Given the description of an element on the screen output the (x, y) to click on. 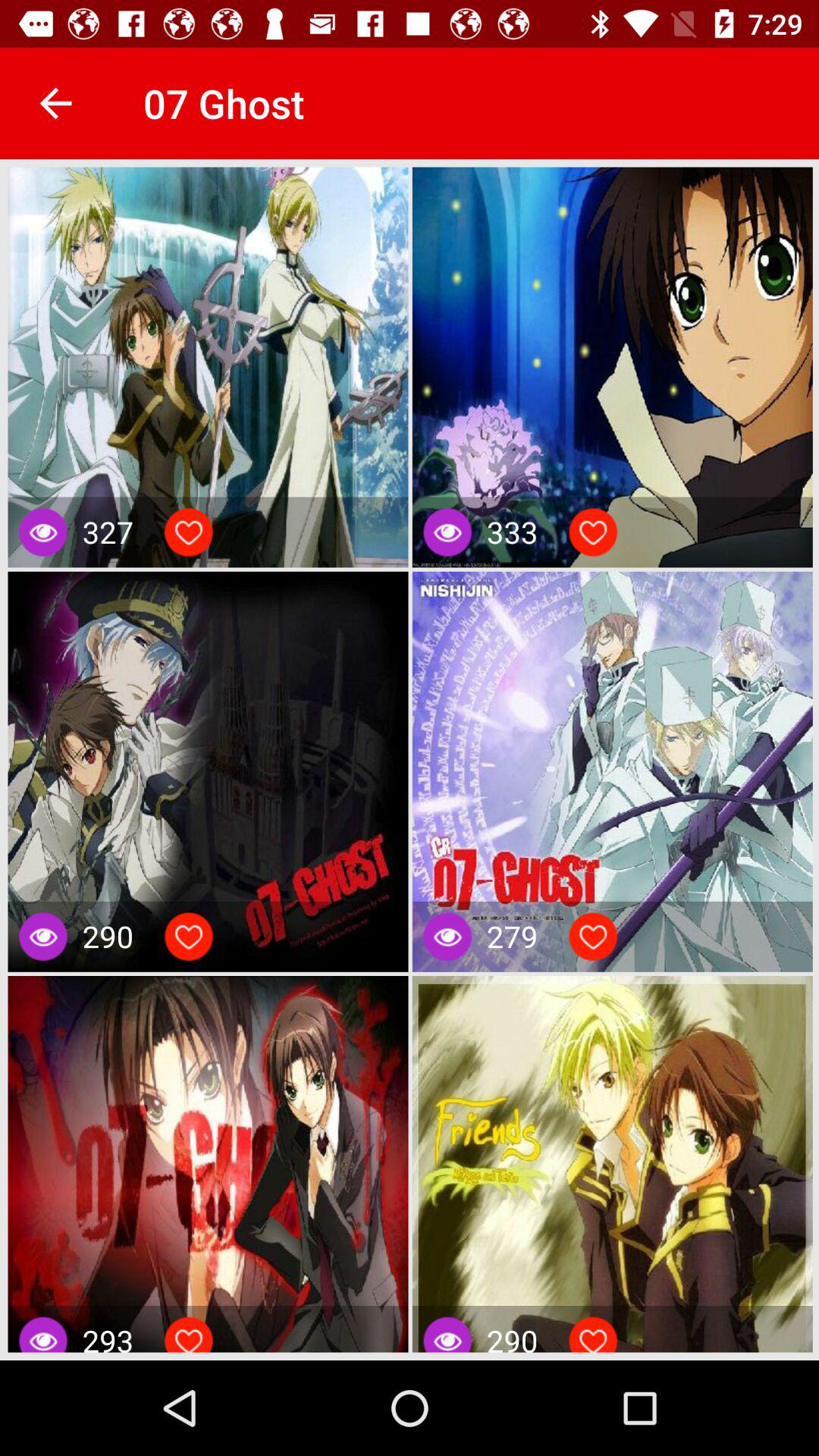
heart image (593, 1338)
